Given the description of an element on the screen output the (x, y) to click on. 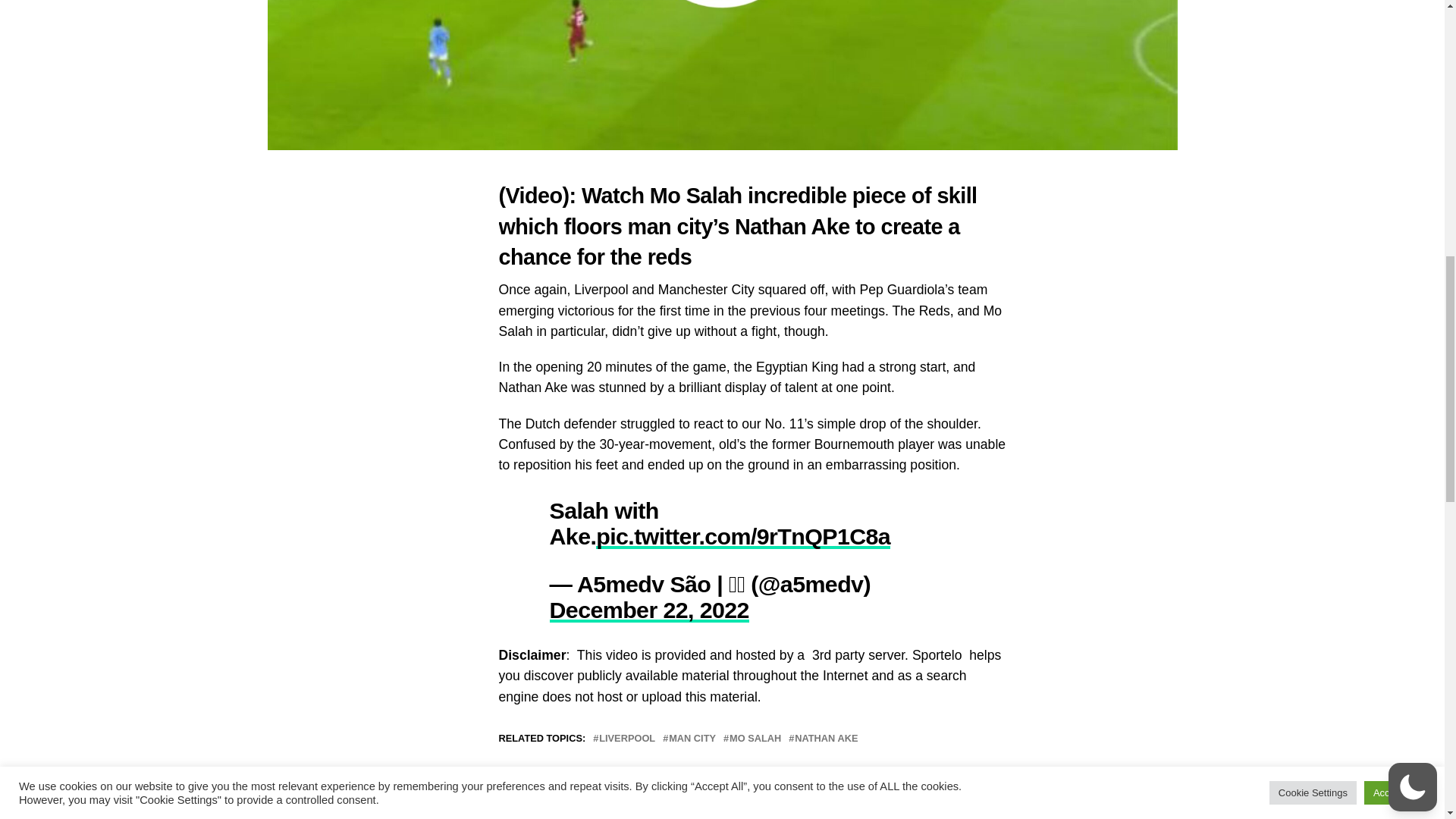
MAN CITY (692, 738)
December 22, 2022 (648, 609)
MO SALAH (754, 738)
LIVERPOOL (626, 738)
NATHAN AKE (825, 738)
